Given the description of an element on the screen output the (x, y) to click on. 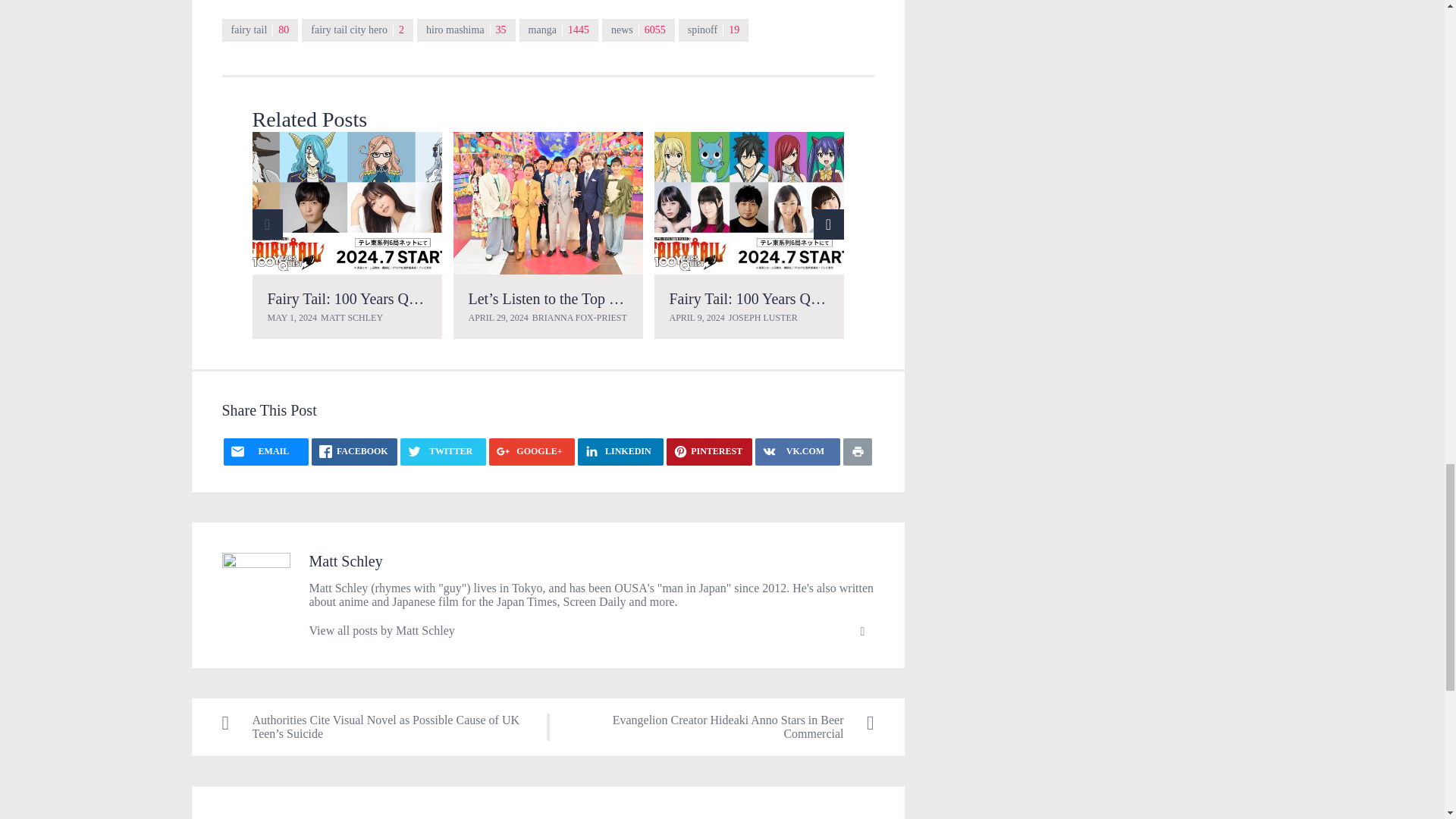
Fairy Tail: 100 Years Quest Anime Adds New Cast Members (451, 298)
fairy tail 80 (259, 29)
Fairy Tail: 100 Years Quest Anime Adds New Cast Members (346, 202)
fairy tail city hero 2 (357, 29)
